Given the description of an element on the screen output the (x, y) to click on. 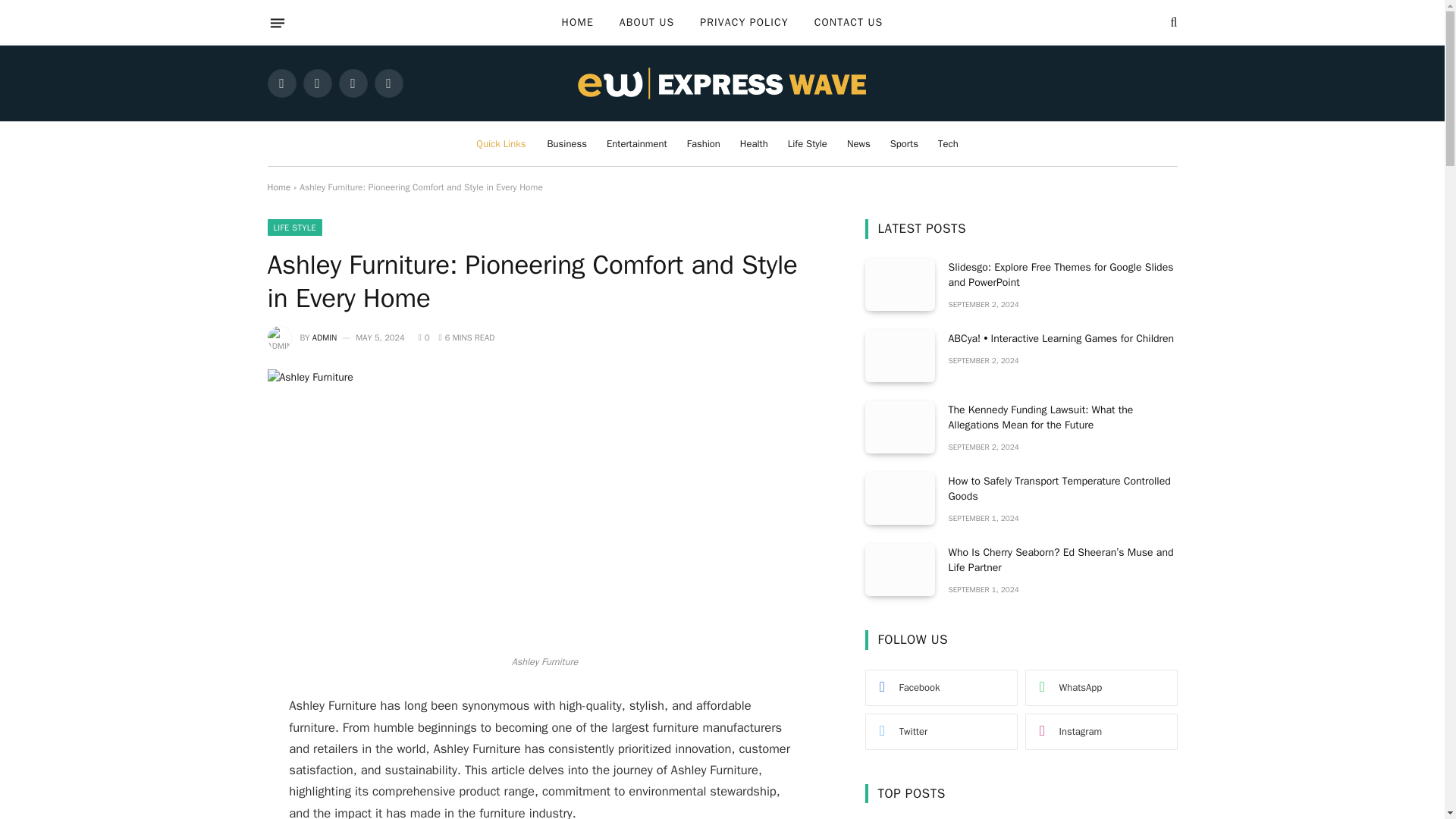
Entertainment (636, 143)
ADMIN (325, 337)
Home (277, 186)
Fashion (703, 143)
Life Style (807, 143)
ABOUT US (647, 22)
Instagram (351, 82)
HOME (577, 22)
Sports (904, 143)
Health (753, 143)
